Given the description of an element on the screen output the (x, y) to click on. 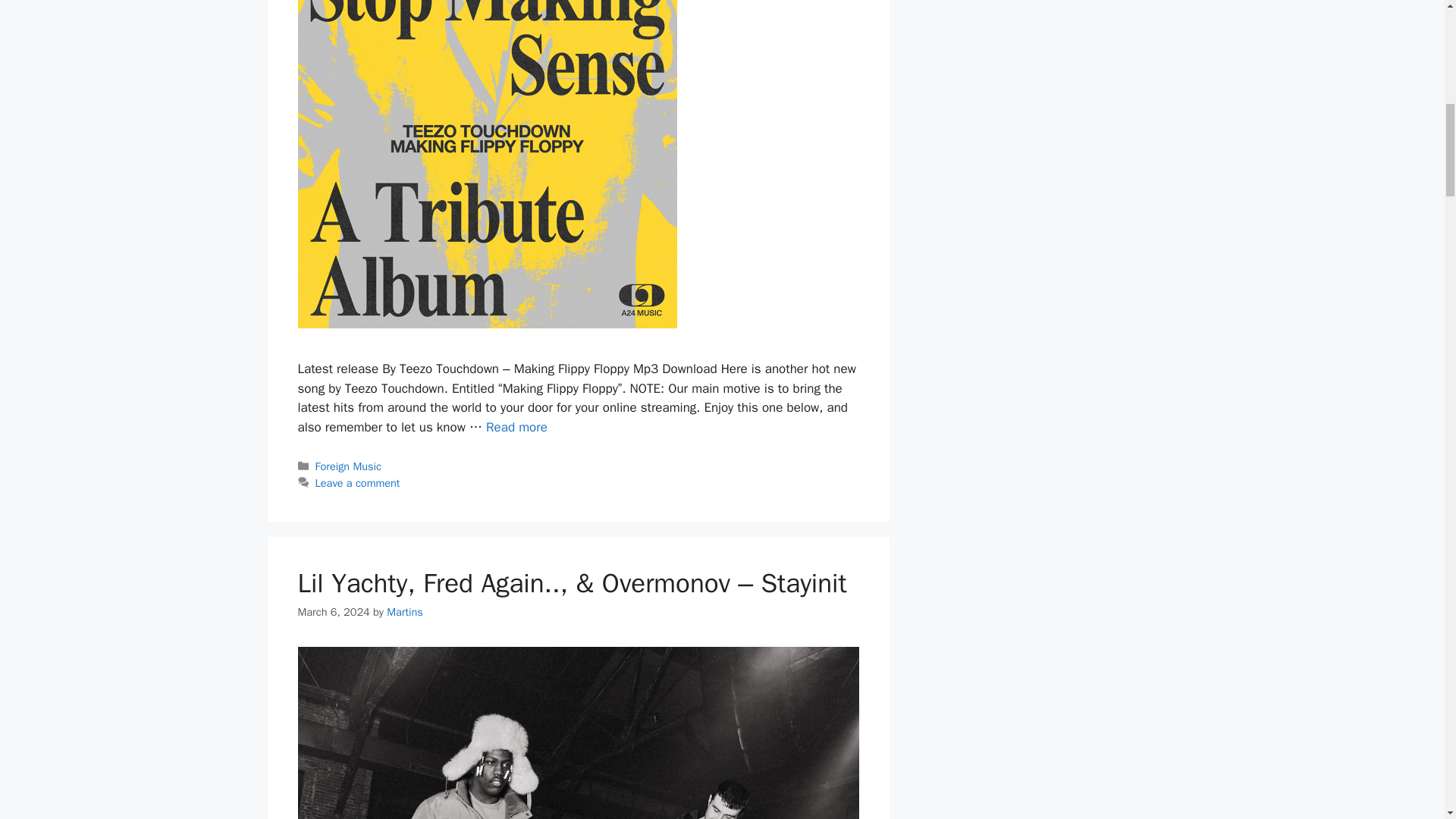
Read more (516, 426)
Leave a comment (357, 482)
Foreign Music (348, 466)
Martins (405, 612)
View all posts by Martins (405, 612)
